Given the description of an element on the screen output the (x, y) to click on. 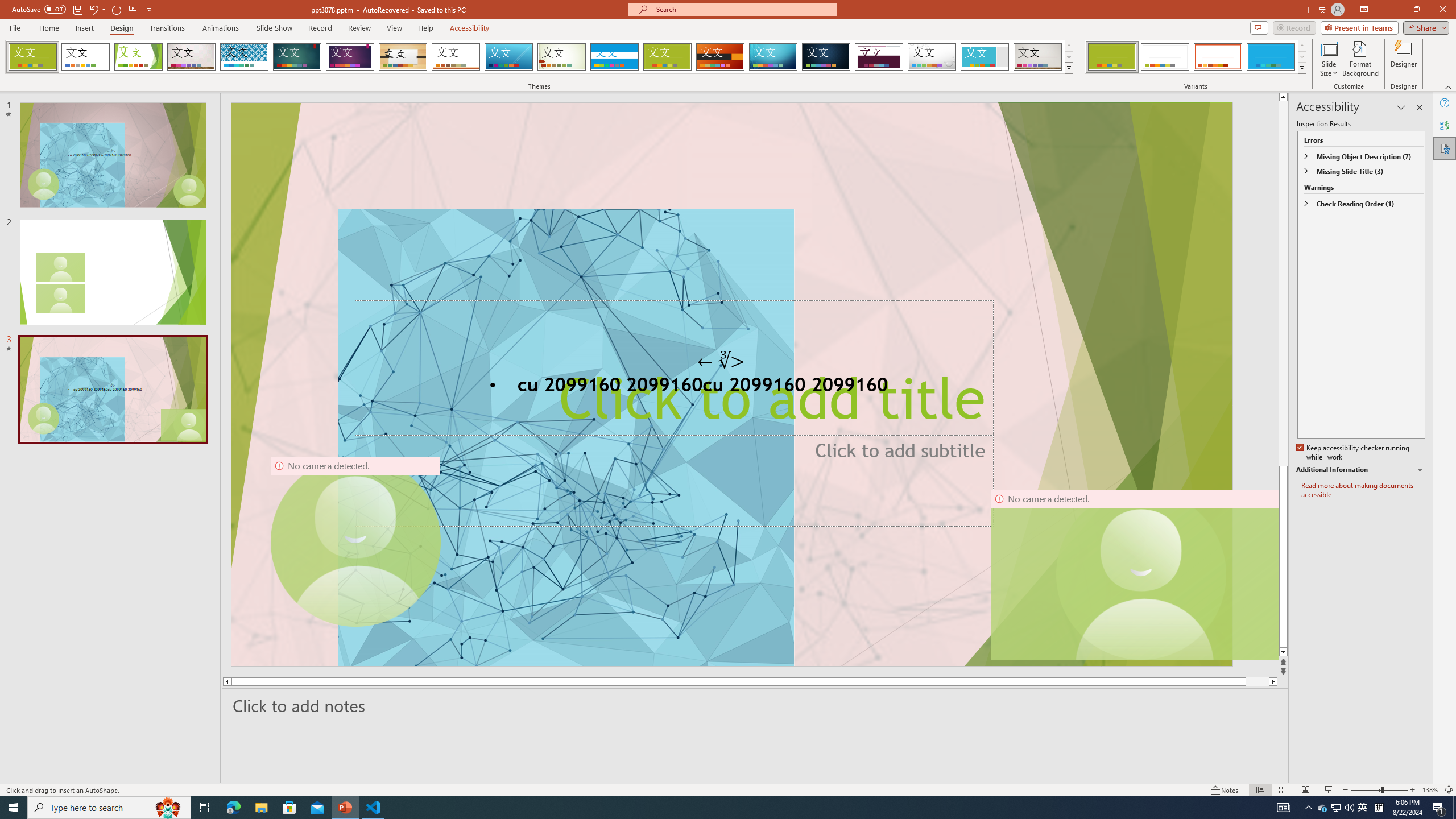
Subtitle TextBox (731, 477)
Retrospect (455, 56)
Frame (984, 56)
Additional Information (1360, 469)
Basis (667, 56)
